Given the description of an element on the screen output the (x, y) to click on. 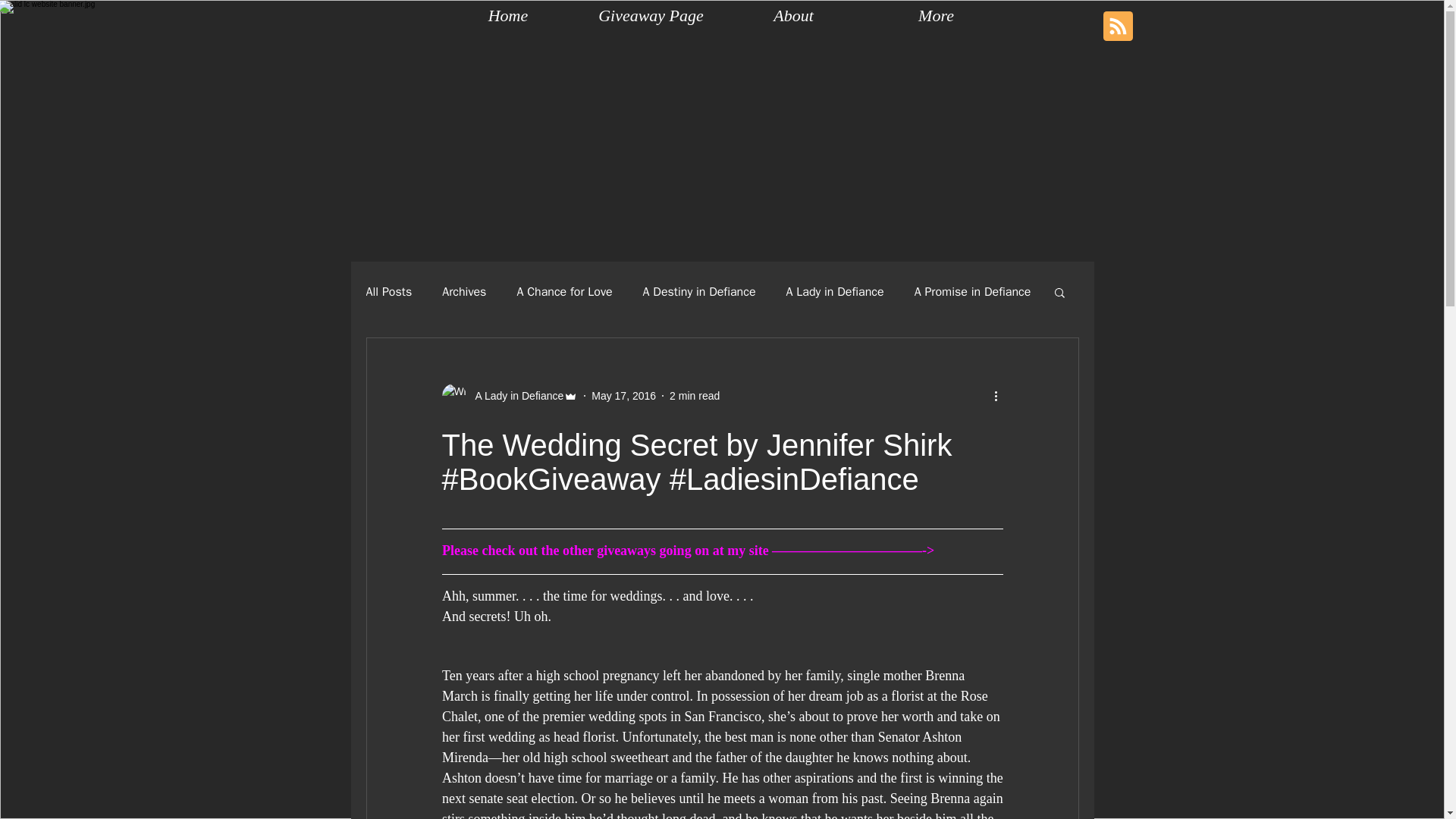
Archives (464, 291)
Giveaway Page (650, 15)
About (793, 15)
May 17, 2016 (623, 395)
2 min read (694, 395)
A Destiny in Defiance (699, 291)
A Promise in Defiance (972, 291)
A Lady in Defiance (514, 396)
A Chance for Love (563, 291)
A Lady in Defiance (834, 291)
All Posts (388, 291)
Home (507, 15)
